Given the description of an element on the screen output the (x, y) to click on. 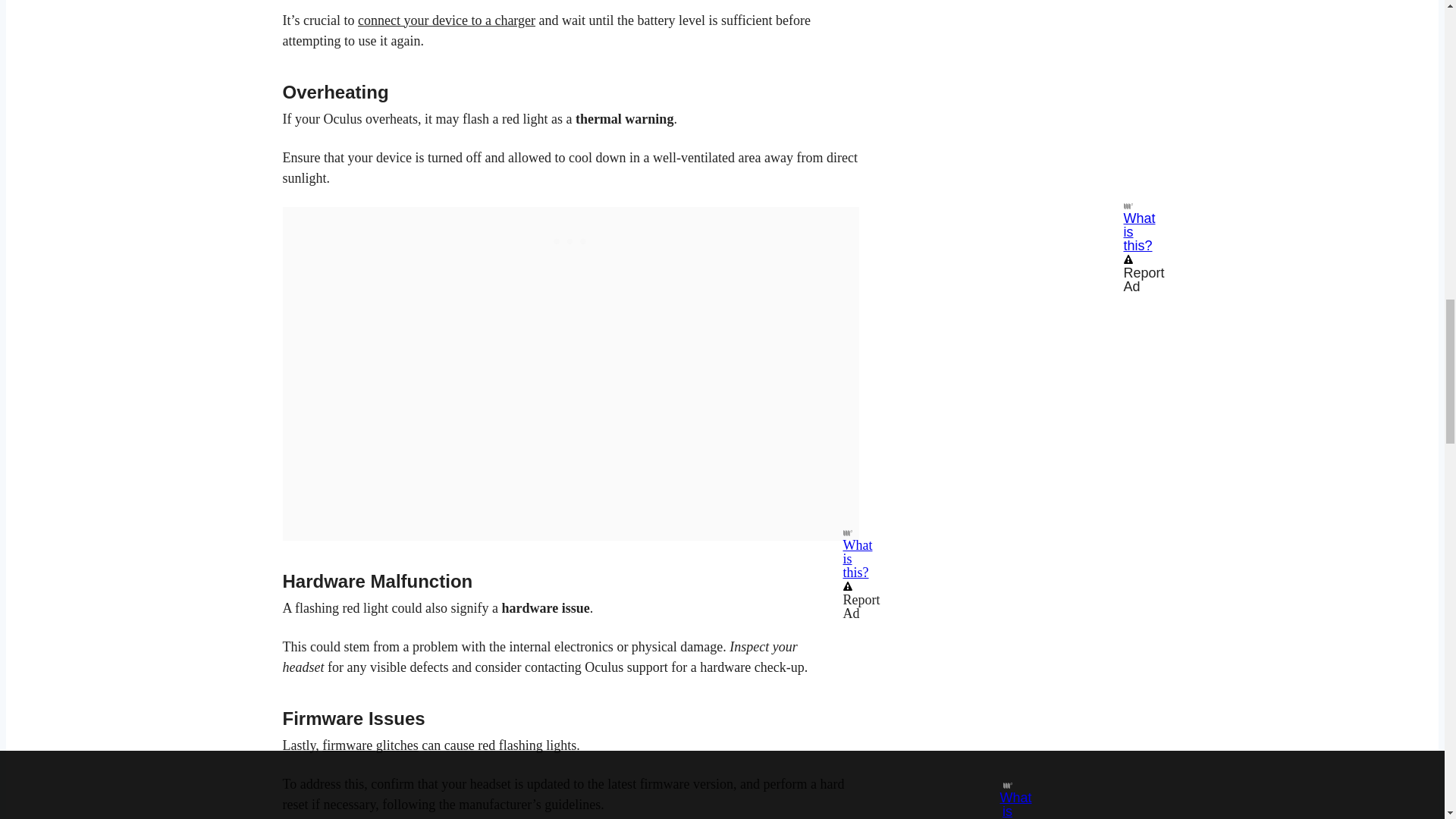
3rd party ad content (569, 240)
connect your device to a charger (446, 19)
firmware glitches (369, 744)
